Given the description of an element on the screen output the (x, y) to click on. 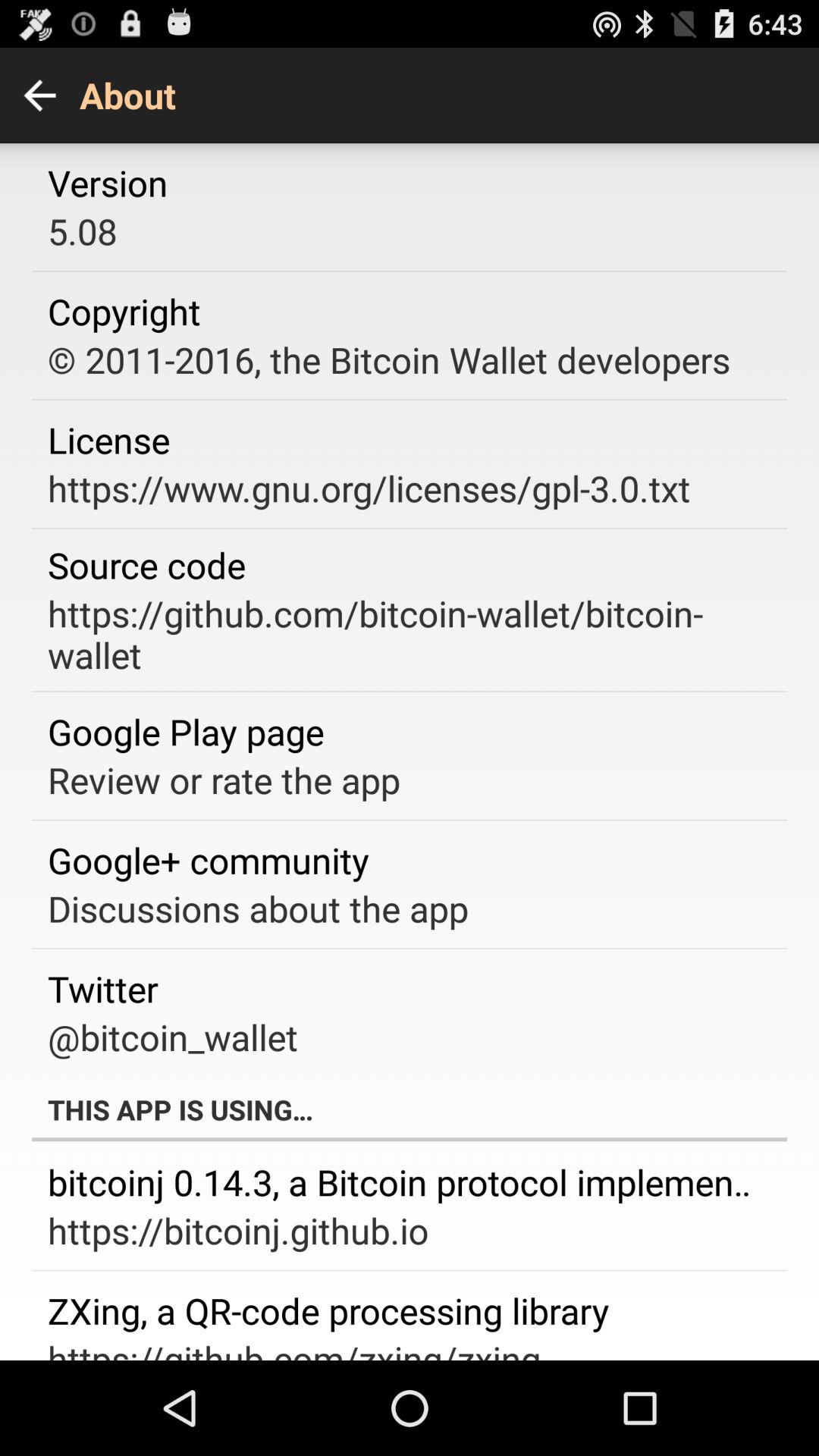
tap icon below the discussions about the icon (102, 988)
